Given the description of an element on the screen output the (x, y) to click on. 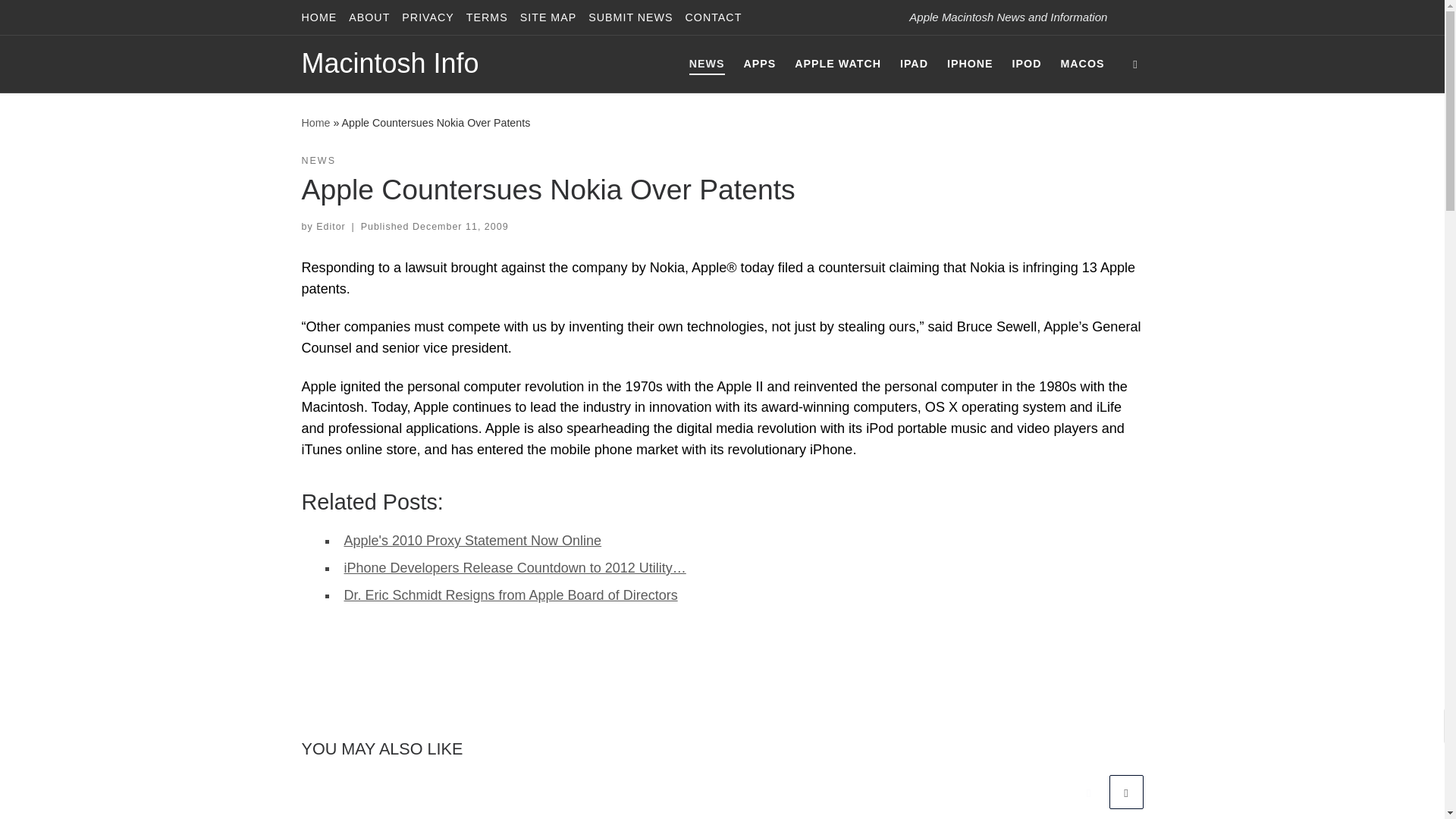
CONTACT (713, 17)
HOME (319, 17)
Dr. Eric Schmidt Resigns from Apple Board of Directors (510, 595)
TERMS (487, 17)
NEWS (706, 63)
ABOUT (369, 17)
NEWS (318, 160)
Next related articles (1125, 791)
APPS (759, 63)
Macintosh Info (390, 63)
Skip to content (60, 20)
SUBMIT NEWS (630, 17)
Editor (330, 226)
PRIVACY (427, 17)
IPHONE (969, 63)
